Given the description of an element on the screen output the (x, y) to click on. 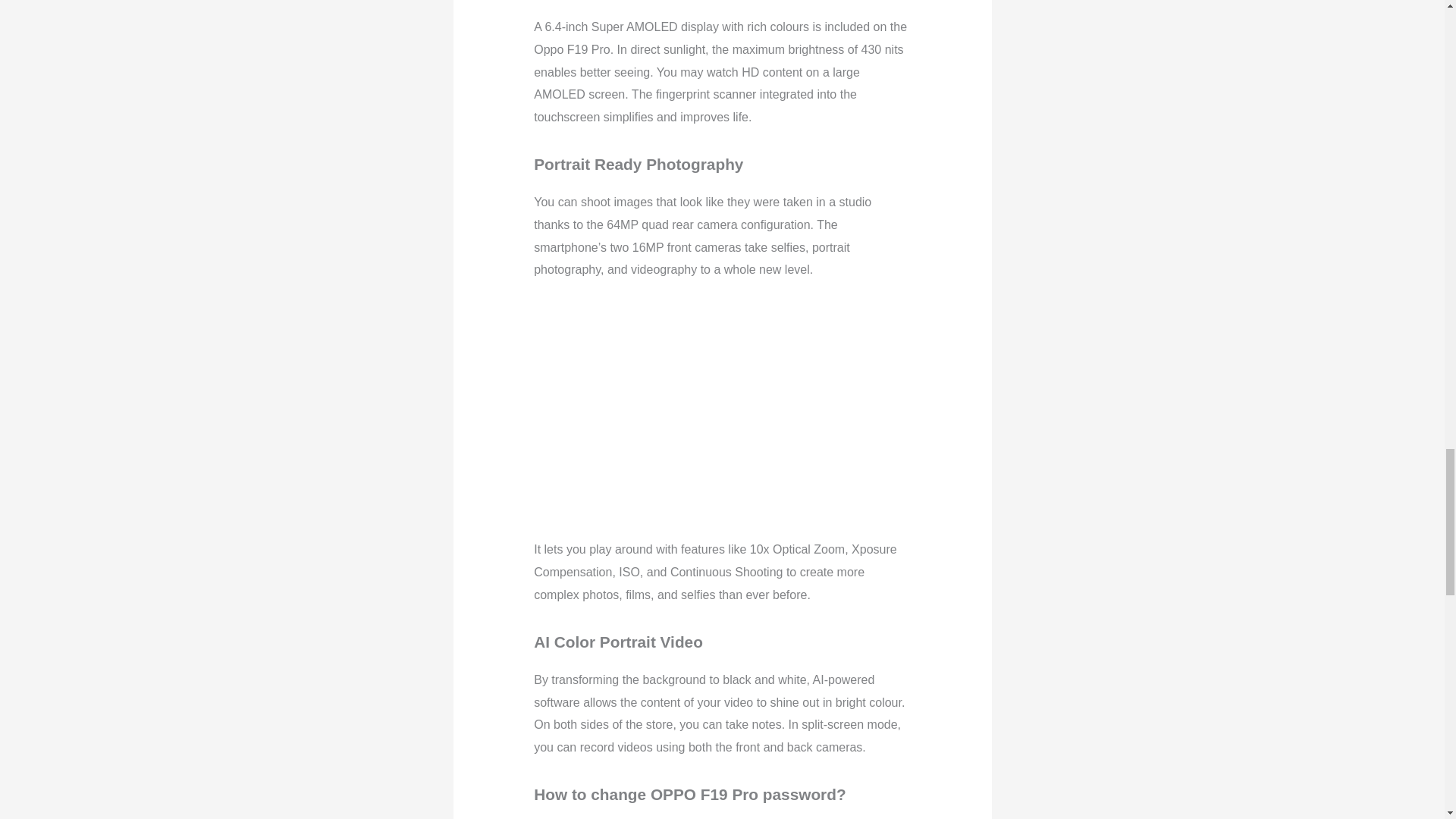
Advertisement (772, 407)
